Given the description of an element on the screen output the (x, y) to click on. 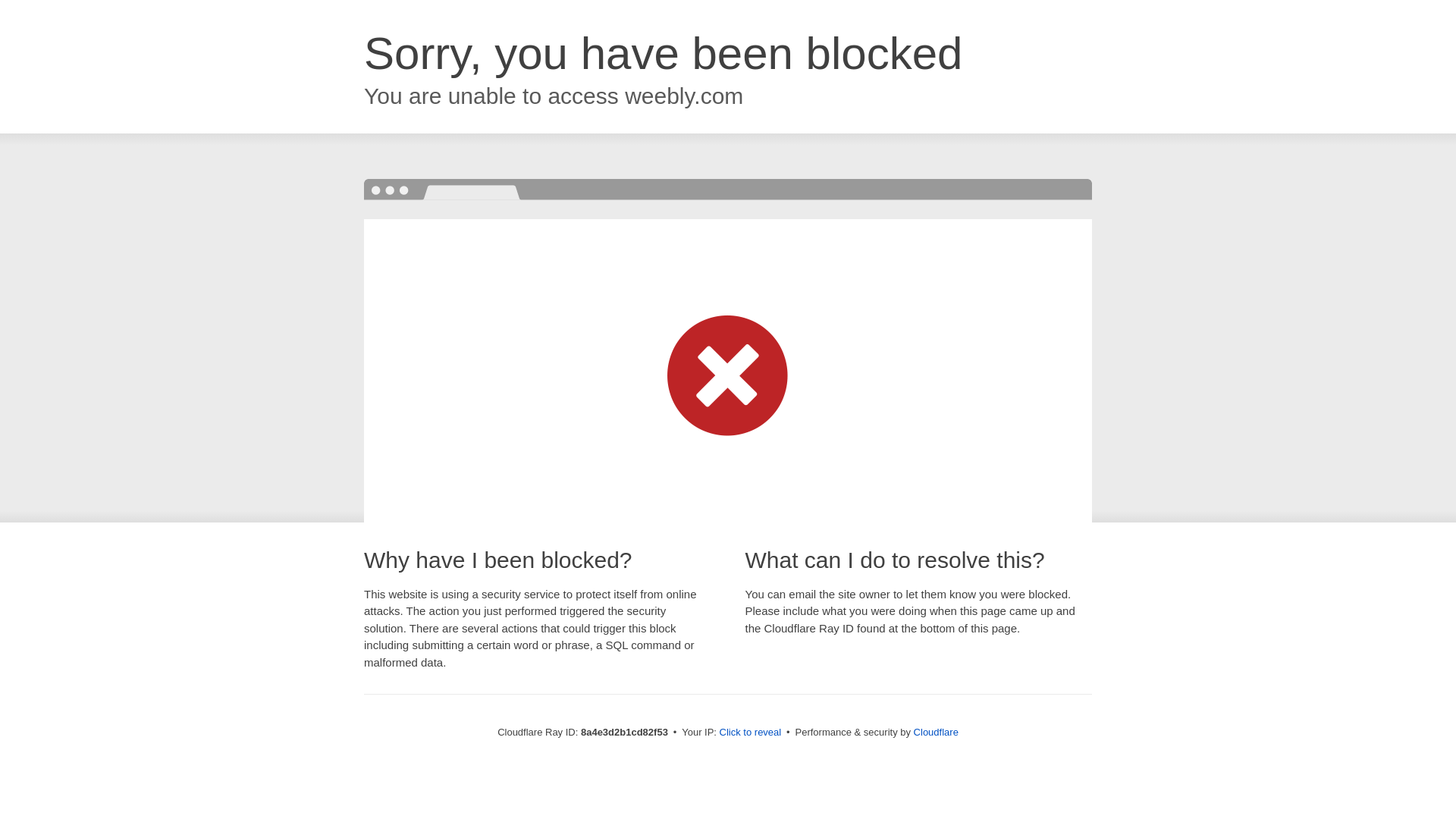
Cloudflare (936, 731)
Click to reveal (750, 732)
